Given the description of an element on the screen output the (x, y) to click on. 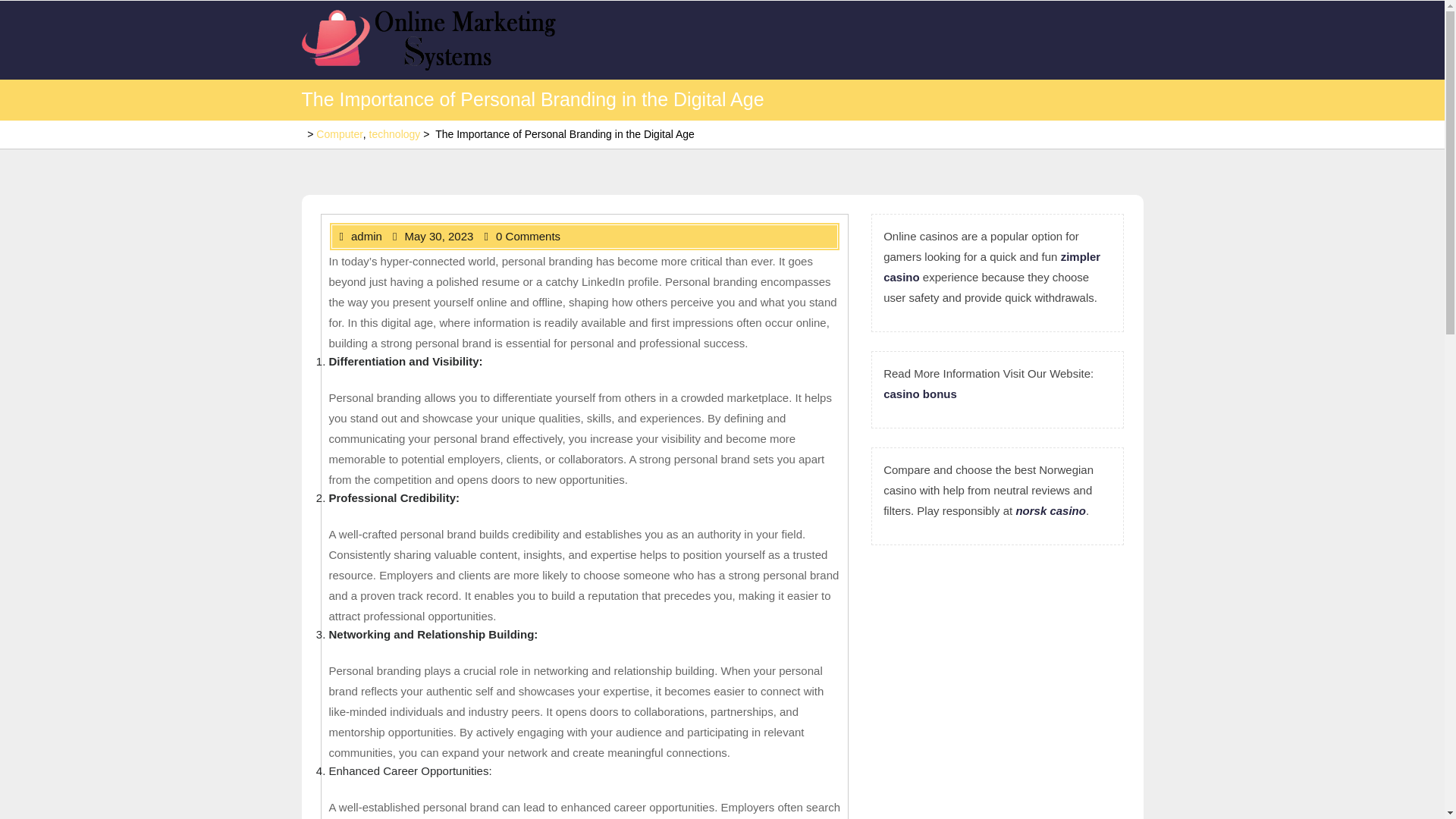
Computer (338, 133)
technology (394, 133)
zimpler casino (991, 266)
casino bonus (919, 392)
norsk casino (1050, 509)
